Given the description of an element on the screen output the (x, y) to click on. 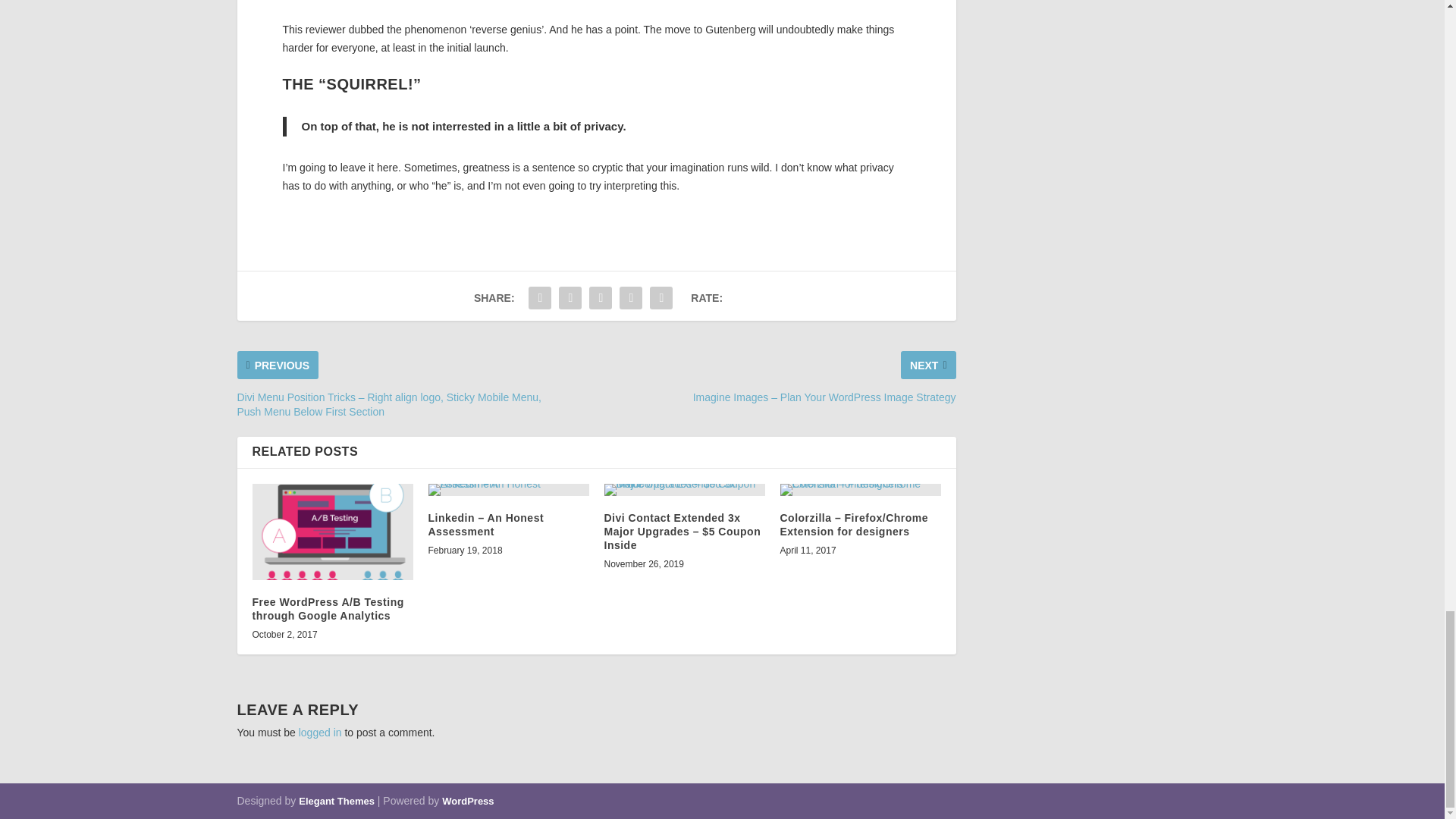
Share "10 Great Gutenberg Reviews" via Pinterest (600, 297)
logged in (320, 732)
Share "10 Great Gutenberg Reviews" via Facebook (539, 297)
Share "10 Great Gutenberg Reviews" via Email (661, 297)
Share "10 Great Gutenberg Reviews" via Twitter (569, 297)
Share "10 Great Gutenberg Reviews" via LinkedIn (630, 297)
